Given the description of an element on the screen output the (x, y) to click on. 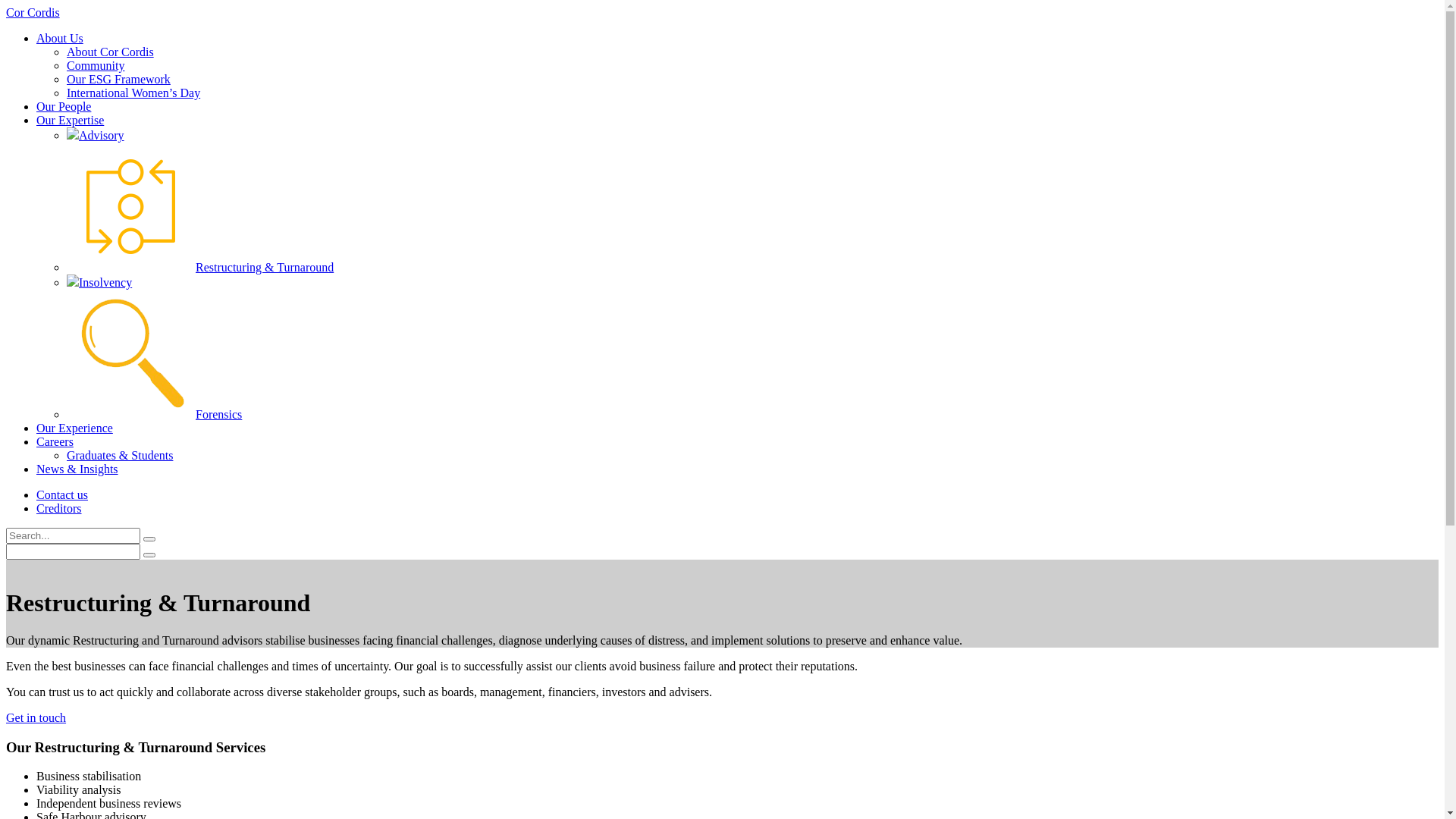
Restructuring & Turnaround Element type: text (199, 266)
Get in touch Element type: text (35, 717)
Community Element type: text (95, 65)
Careers Element type: text (54, 441)
Forensics Element type: text (153, 413)
Creditors Element type: text (58, 508)
Contact us Element type: text (61, 494)
Our Expertise Element type: text (69, 119)
Advisory Element type: text (95, 134)
Insolvency Element type: text (98, 282)
Cor Cordis Element type: text (32, 12)
About Us Element type: text (59, 37)
Our ESG Framework Element type: text (118, 78)
About Cor Cordis Element type: text (109, 51)
Graduates & Students Element type: text (119, 454)
Our Experience Element type: text (74, 427)
News & Insights Element type: text (77, 468)
Our People Element type: text (63, 106)
